Given the description of an element on the screen output the (x, y) to click on. 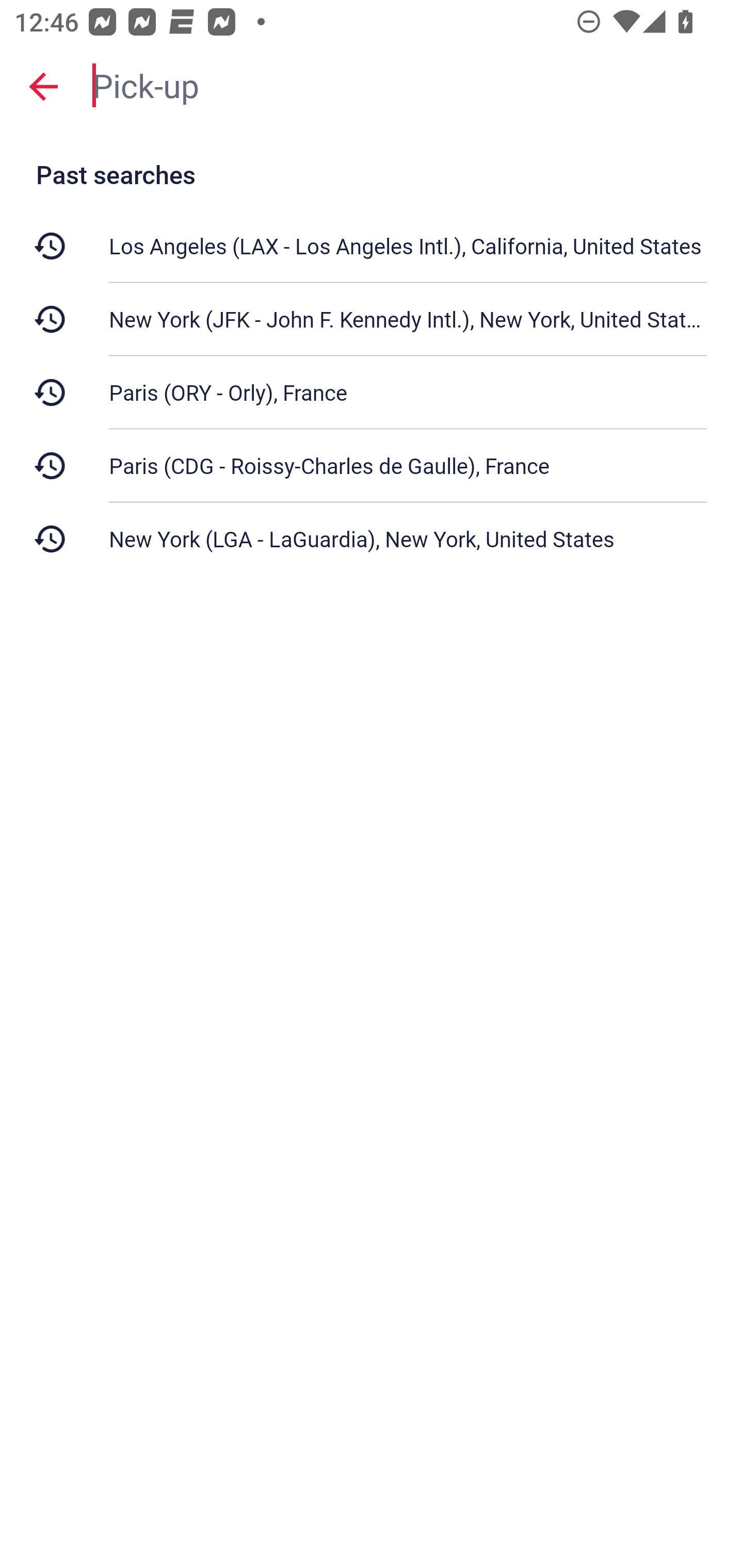
Pick-up,  (407, 85)
Close search screen (43, 86)
